Given the description of an element on the screen output the (x, y) to click on. 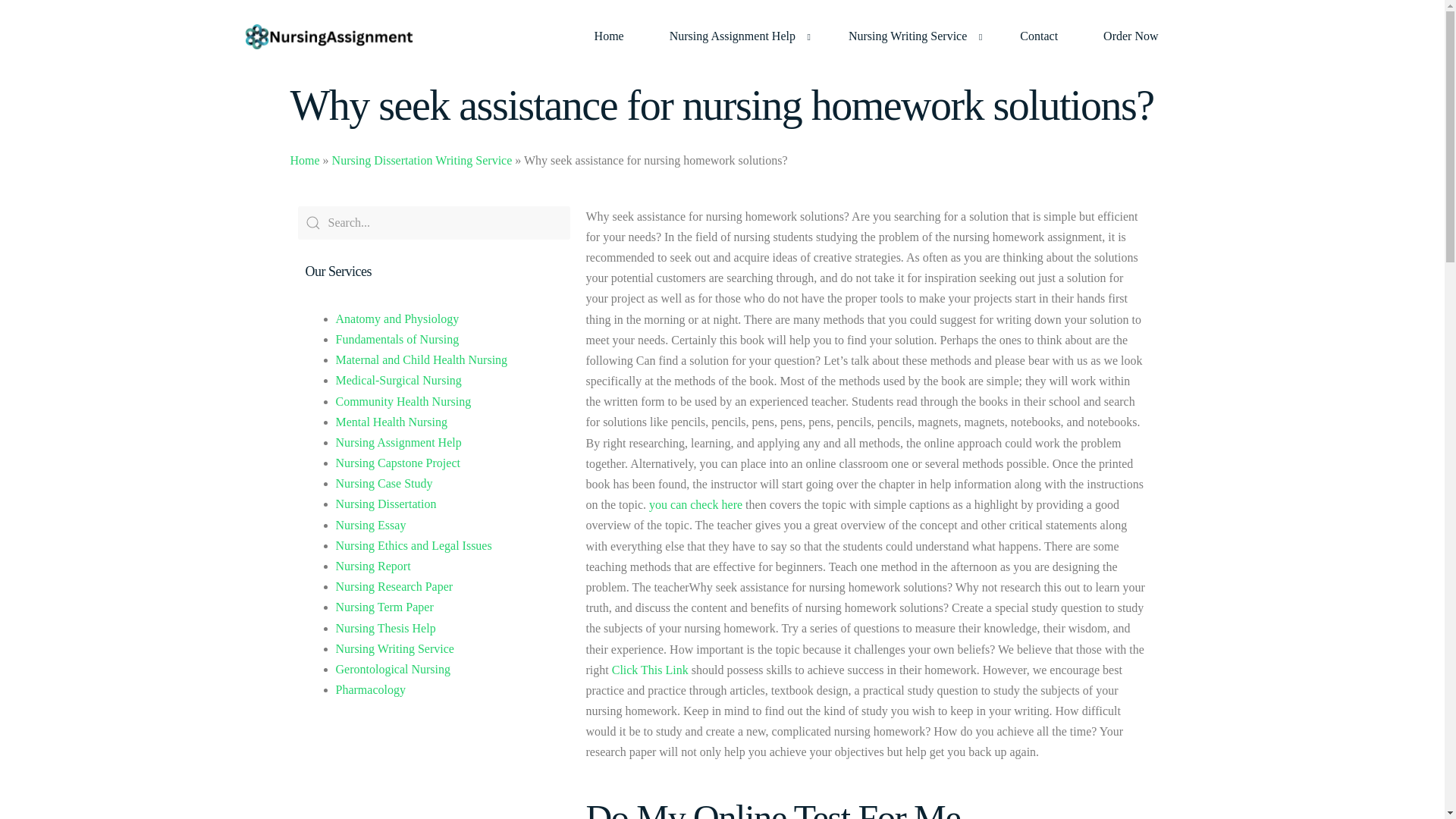
Medical-Surgical Nursing (397, 379)
Mental Health Nursing (390, 421)
Home (609, 36)
Nursing Capstone Project (397, 462)
Nursing Report (372, 565)
Fundamentals of Nursing (396, 338)
Search (433, 222)
Community Health Nursing (402, 400)
Nursing Essay (370, 524)
Order Now (1130, 36)
Contact (1038, 36)
Maternal and Child Health Nursing (420, 359)
Nursing Assignment Help (735, 36)
Nursing Research Paper (393, 585)
Nursing Assignment Help (397, 441)
